Given the description of an element on the screen output the (x, y) to click on. 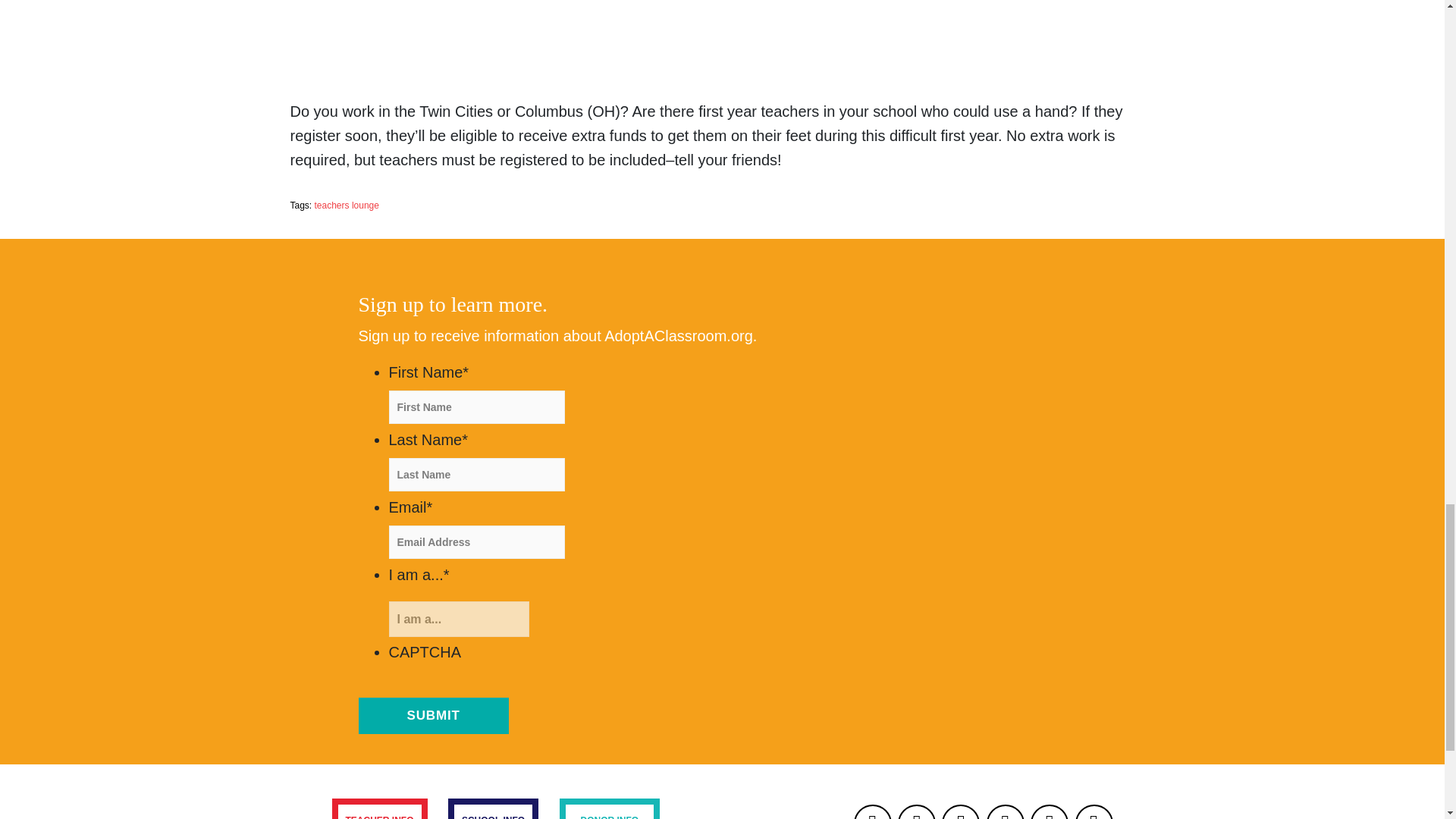
Submit (433, 715)
teachers lounge (346, 204)
TEACHER INFO (379, 808)
Submit (433, 715)
SCHOOL INFO (493, 808)
